Given the description of an element on the screen output the (x, y) to click on. 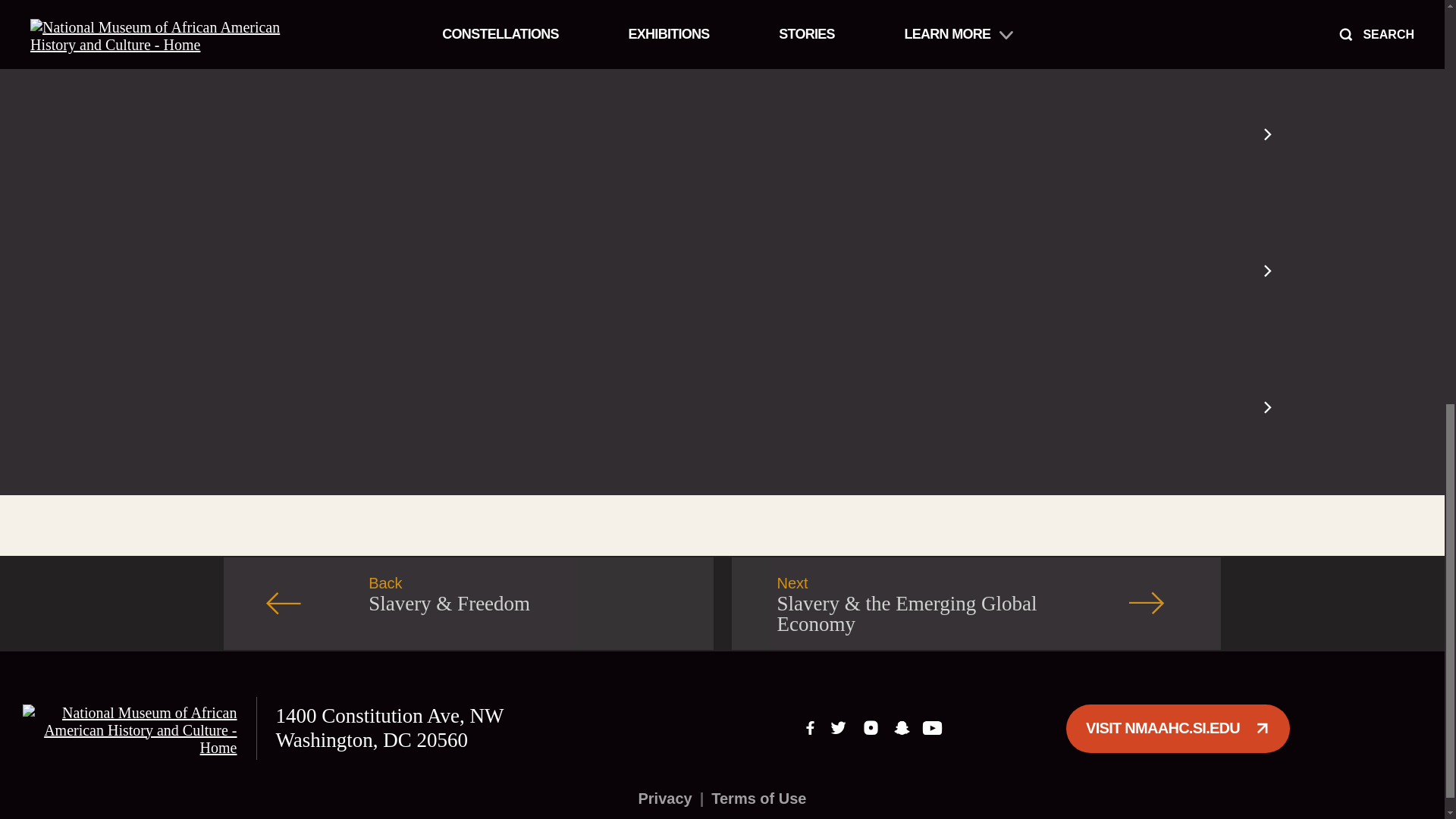
NMAAHC on Twitter (840, 727)
NMAAHC on Instagram (871, 727)
NMAAHC on YouTube (932, 727)
NMAAHC on Facebook (810, 727)
NMAAHC on Snapchat (901, 727)
